Given the description of an element on the screen output the (x, y) to click on. 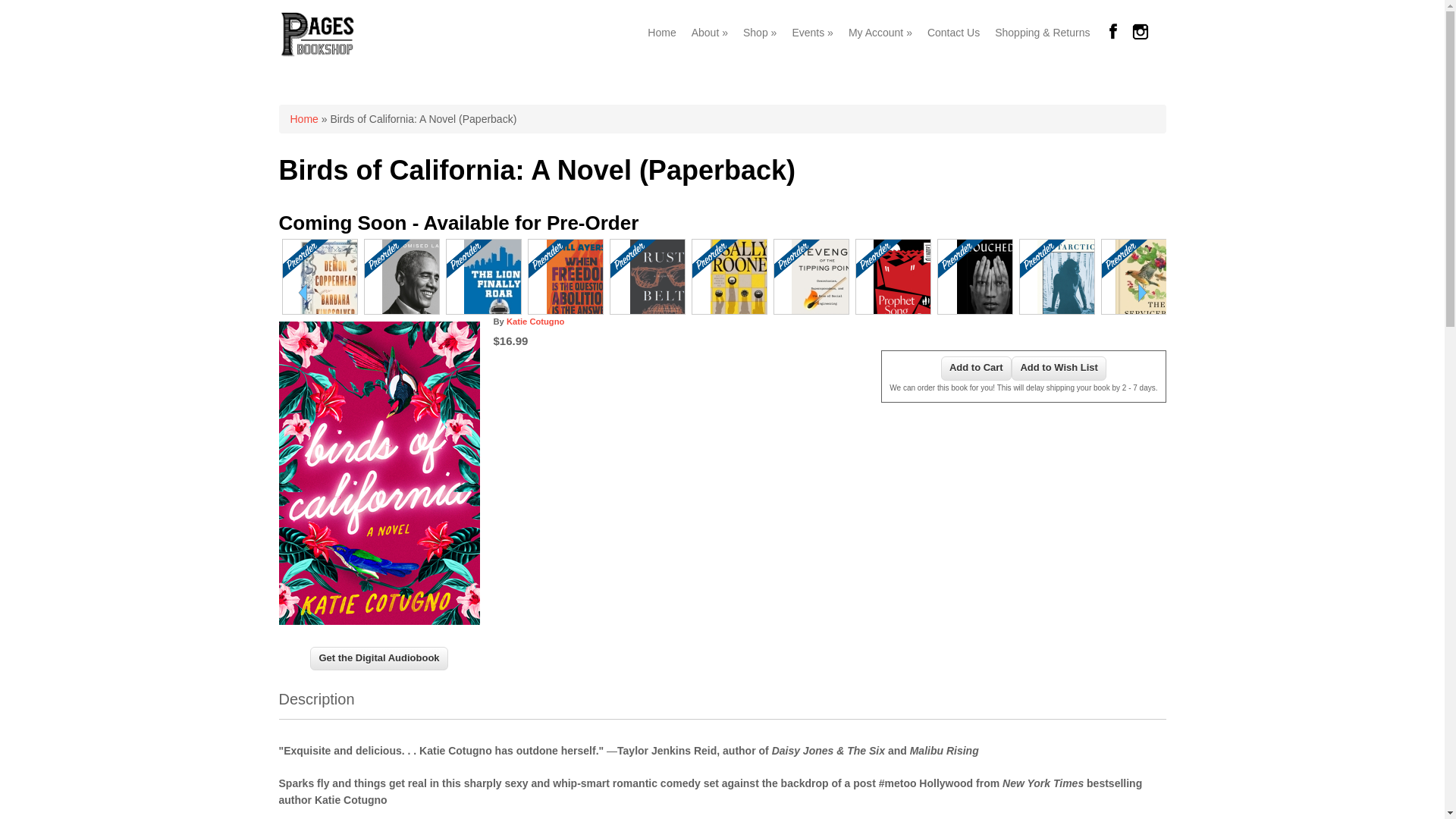
Home (661, 32)
Get the Digital Audiobook (379, 658)
Calendar of Upcoming Events (812, 32)
Home (303, 119)
Contact Us (953, 32)
Home (317, 53)
Add to Wish List (1058, 368)
Add to Cart (975, 368)
Book Lists (759, 32)
